Given the description of an element on the screen output the (x, y) to click on. 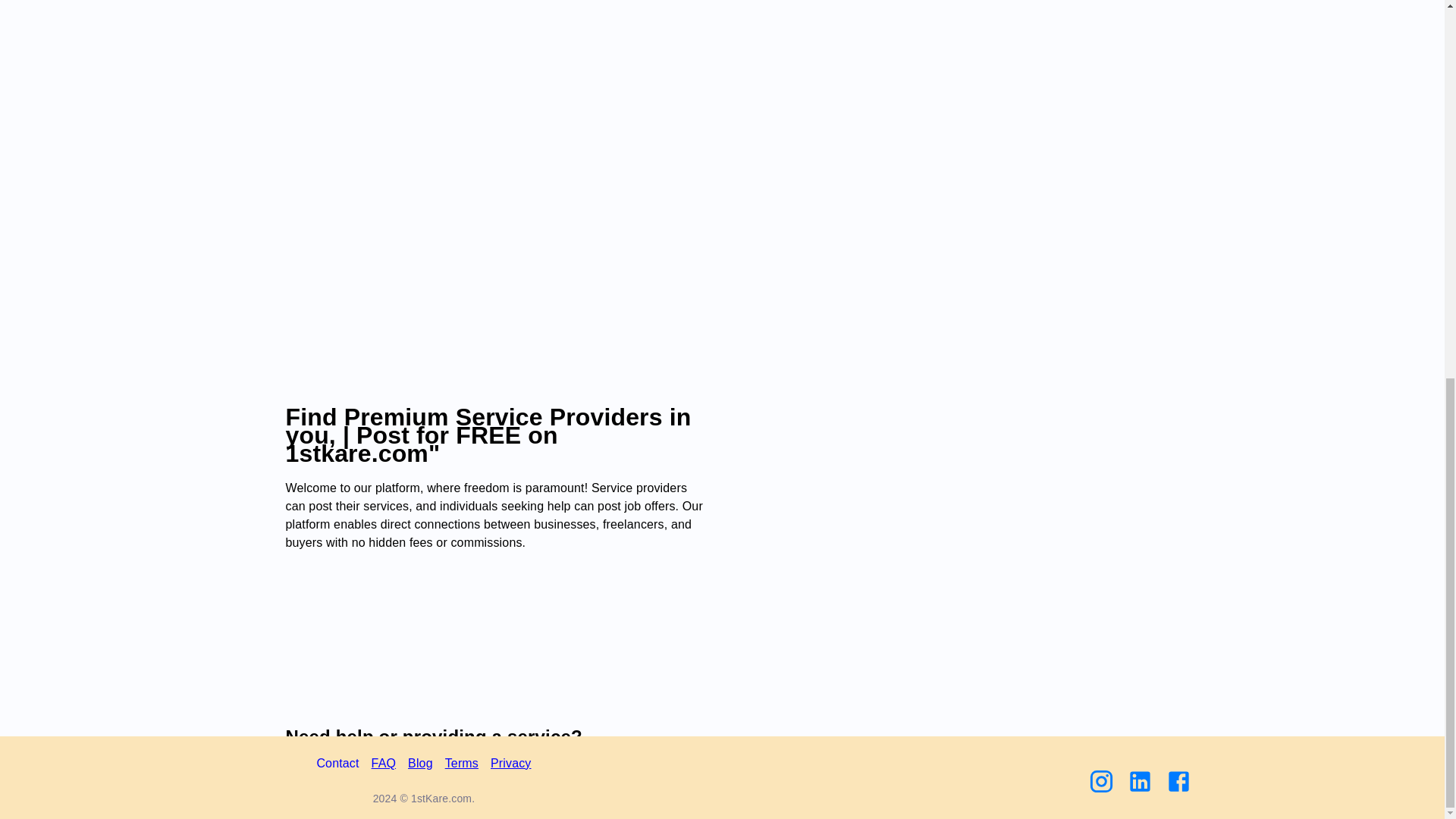
Contact (336, 63)
Terms (462, 63)
Blog (419, 63)
CREATE AN ACCOUNT (375, 801)
FAQ (383, 63)
Privacy (510, 63)
